Given the description of an element on the screen output the (x, y) to click on. 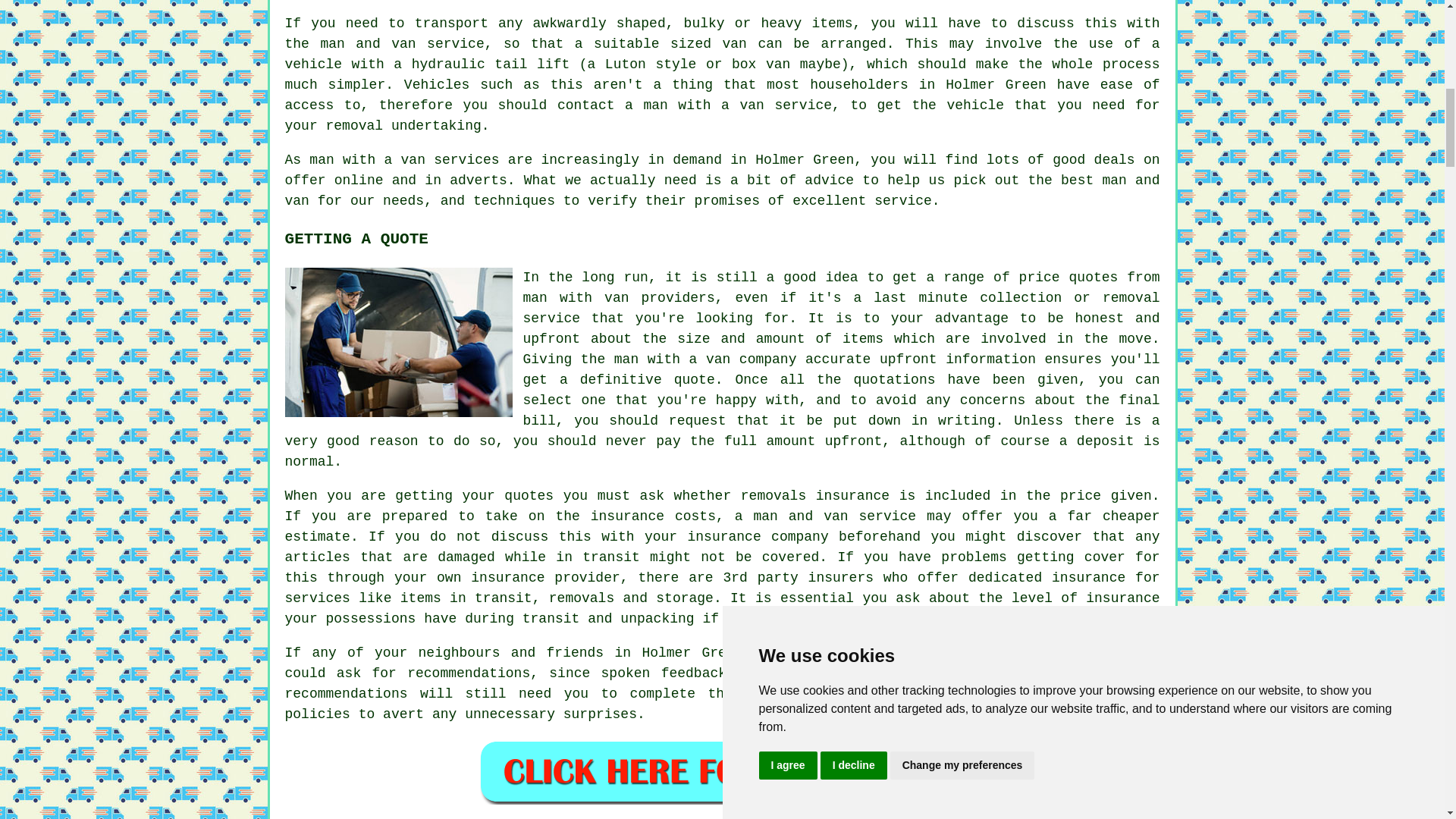
Man and a Van Holmer Green (398, 341)
man with van (575, 297)
Get Quotes From Man With a Van Holmer Green (722, 771)
man with a van (702, 105)
